Given the description of an element on the screen output the (x, y) to click on. 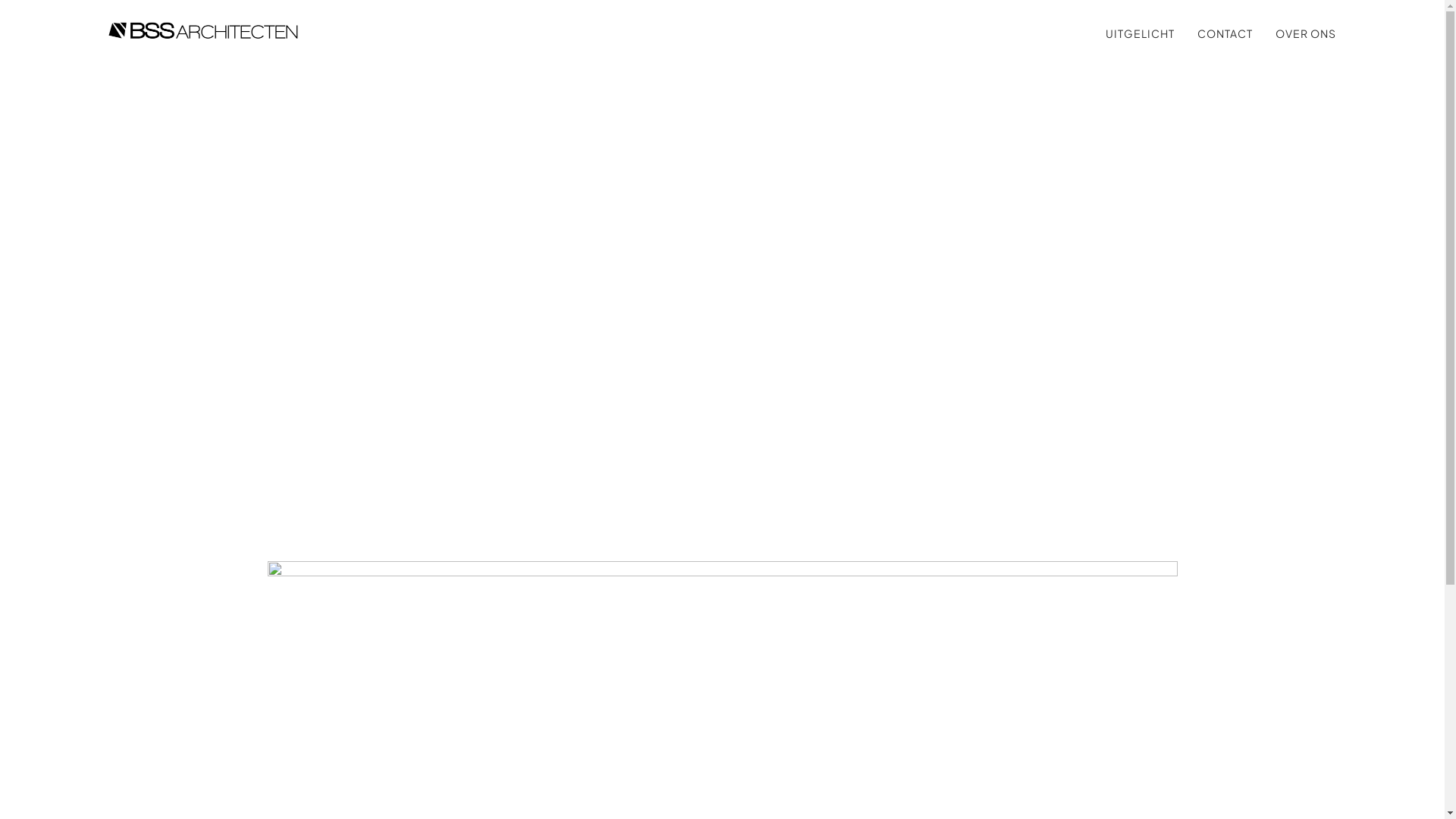
CONTACT Element type: text (1224, 33)
UITGELICHT Element type: text (1139, 33)
OVER ONS Element type: text (1305, 33)
